Given the description of an element on the screen output the (x, y) to click on. 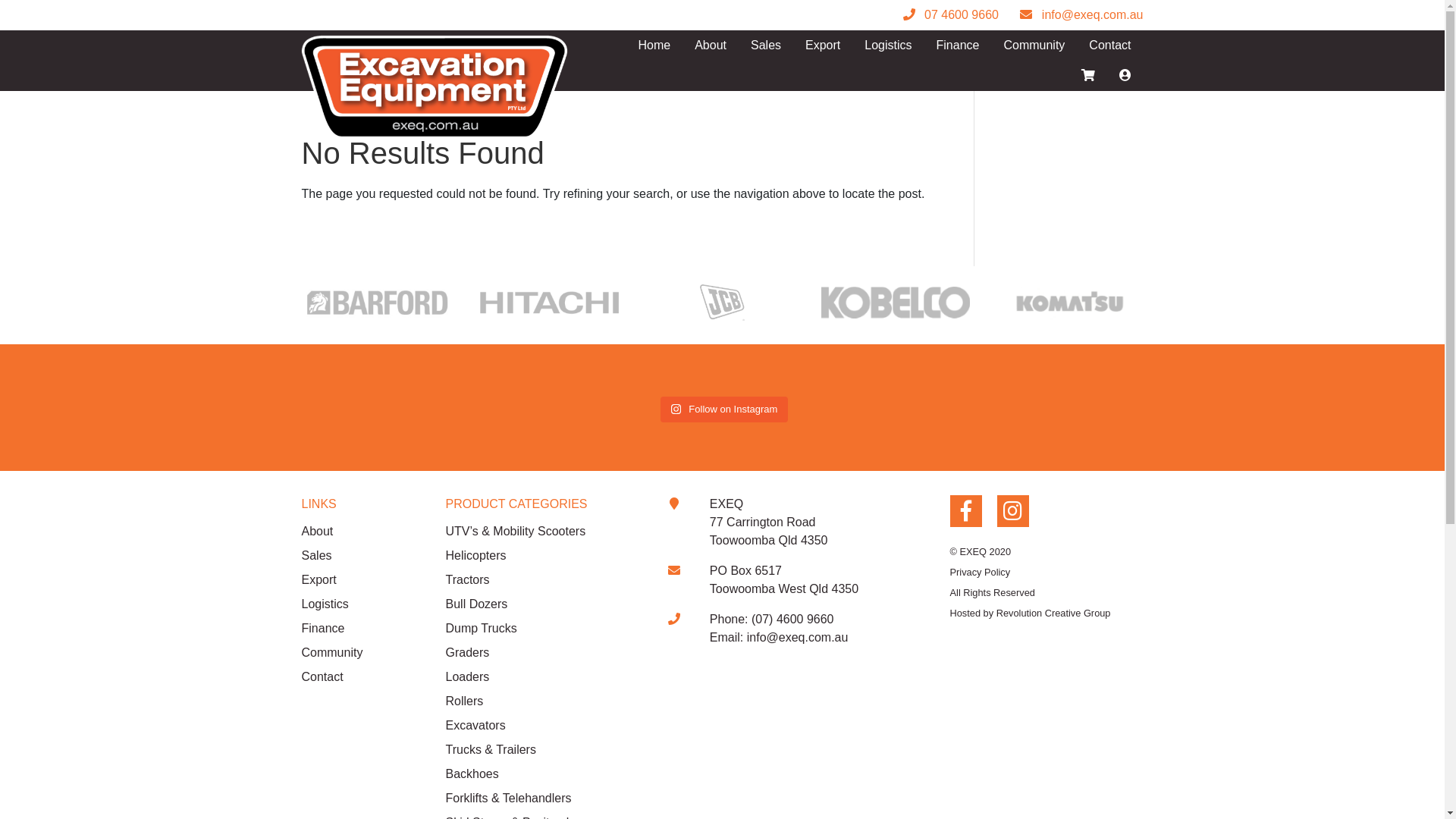
Contact Element type: text (1109, 45)
Dump Trucks Element type: text (542, 627)
(07) 4600 9660 Element type: text (792, 618)
<i class='fas fa-user-circle'></i> Element type: hover (1125, 75)
Helicopters Element type: text (542, 554)
Export Element type: text (822, 45)
Logistics Element type: text (887, 45)
info@exeq.com.au Element type: text (1080, 14)
<i class='fas fa-shopping-cart'></i> Element type: hover (1088, 75)
Home Element type: text (654, 45)
Contact Element type: text (362, 676)
Sales Element type: text (362, 554)
Privacy Policy Element type: text (979, 571)
Finance Element type: text (957, 45)
Bull Dozers Element type: text (542, 603)
Trucks & Trailers Element type: text (542, 749)
Revolution Creative Group Element type: text (1053, 612)
info@exeq.com.au Element type: text (797, 636)
About Element type: text (710, 45)
Forklifts & Telehandlers Element type: text (542, 797)
Community Element type: text (1033, 45)
Rollers Element type: text (542, 700)
Sales Element type: text (765, 45)
Backhoes Element type: text (542, 773)
Excavators Element type: text (542, 724)
Tractors Element type: text (542, 579)
07 4600 9660 Element type: text (950, 14)
Finance Element type: text (362, 627)
Export Element type: text (362, 579)
Loaders Element type: text (542, 676)
About Element type: text (362, 530)
Graders Element type: text (542, 652)
Logistics Element type: text (362, 603)
Community Element type: text (362, 652)
Follow on Instagram Element type: text (724, 409)
